Given the description of an element on the screen output the (x, y) to click on. 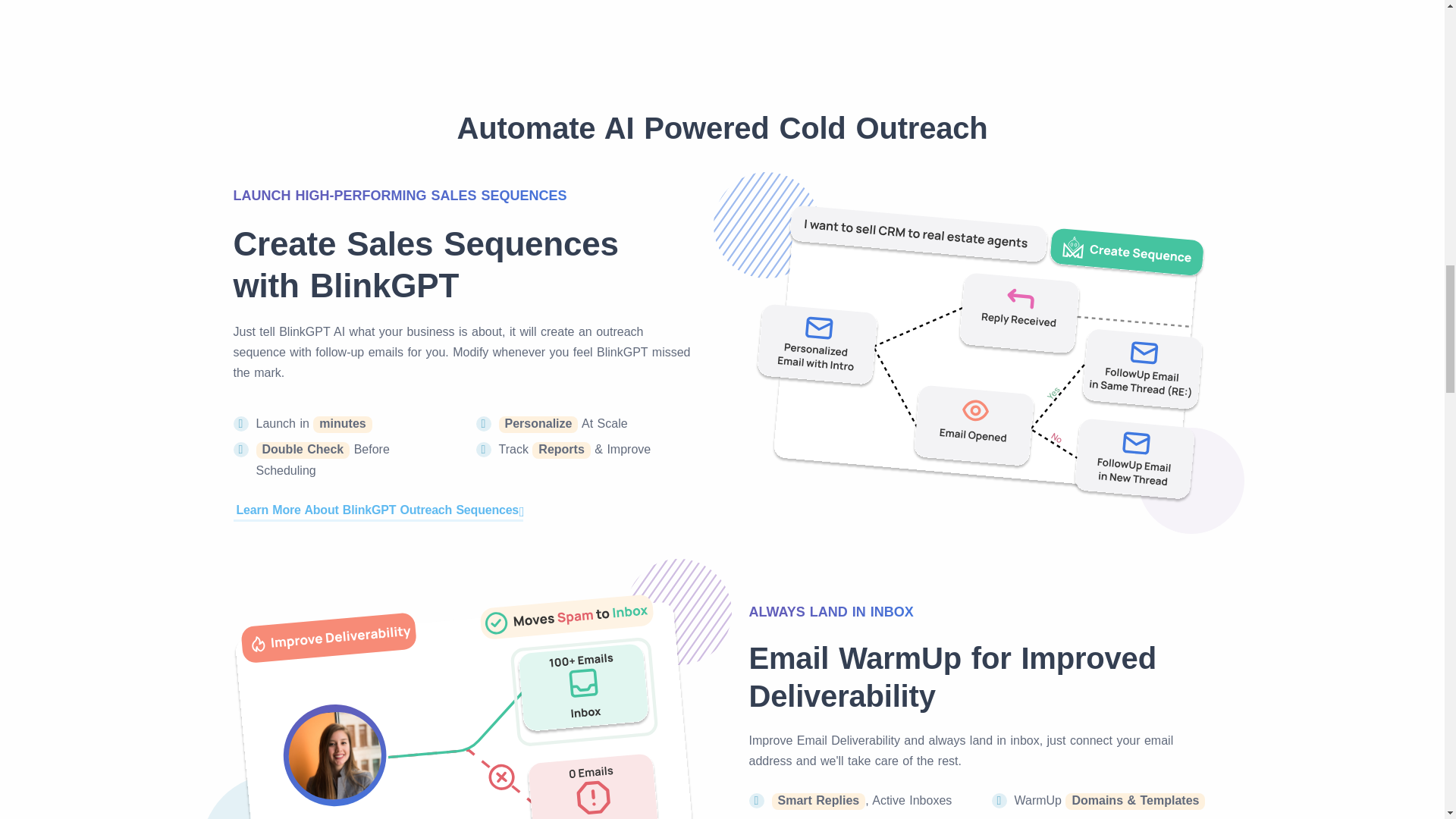
SalesBlink Email WarmUp Deliverability (463, 703)
Learn More About BlinkGPT Outreach Sequences (378, 509)
